Given the description of an element on the screen output the (x, y) to click on. 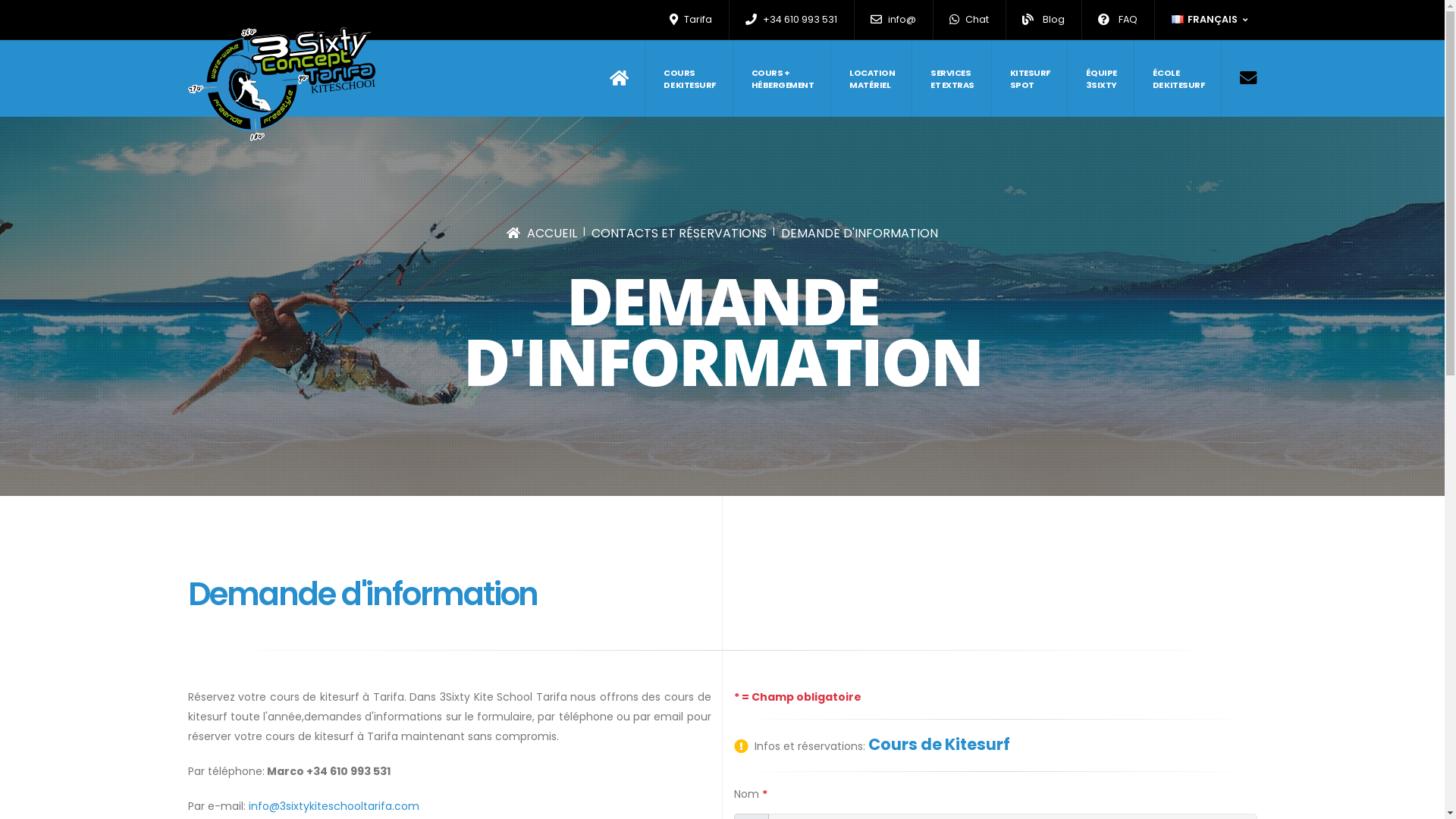
Accueil Element type: hover (627, 78)
Chat Element type: text (968, 19)
KITESURF SPOT Element type: text (1030, 78)
FAQ Element type: text (1117, 19)
Blog Element type: text (1042, 19)
DEMANDE D'INFORMATION Element type: text (859, 232)
COURS DE KITESURF Element type: text (689, 78)
SERVICES ET EXTRAS Element type: text (952, 78)
ACCUEIL Element type: text (541, 232)
info@ Element type: text (892, 19)
info@3sixtykiteschooltarifa.com Element type: text (333, 805)
+34 610 993 531 Element type: text (791, 19)
Tarifa Element type: text (690, 19)
